Given the description of an element on the screen output the (x, y) to click on. 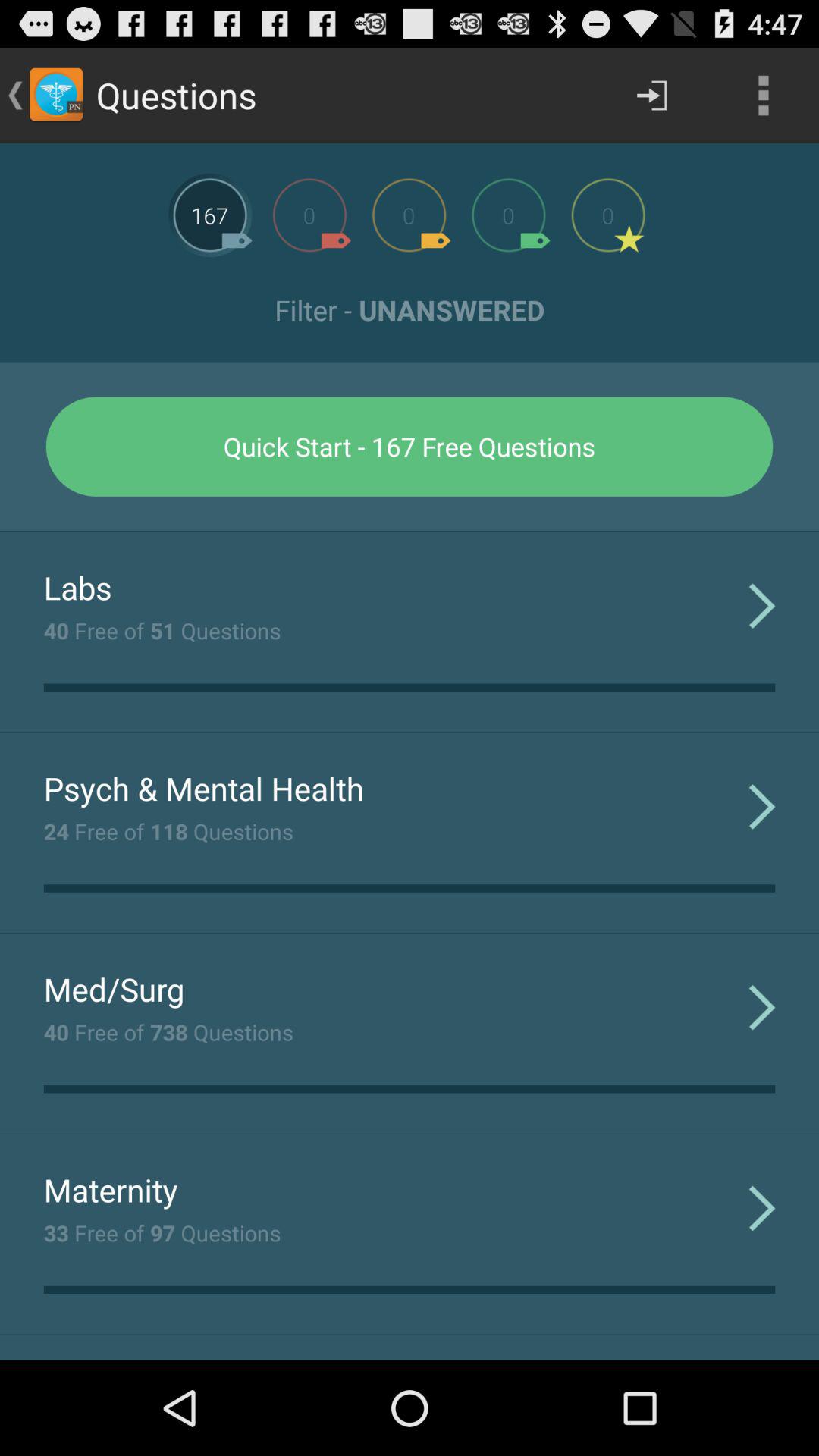
tap the item to the right of the psych & mental health item (762, 806)
